Given the description of an element on the screen output the (x, y) to click on. 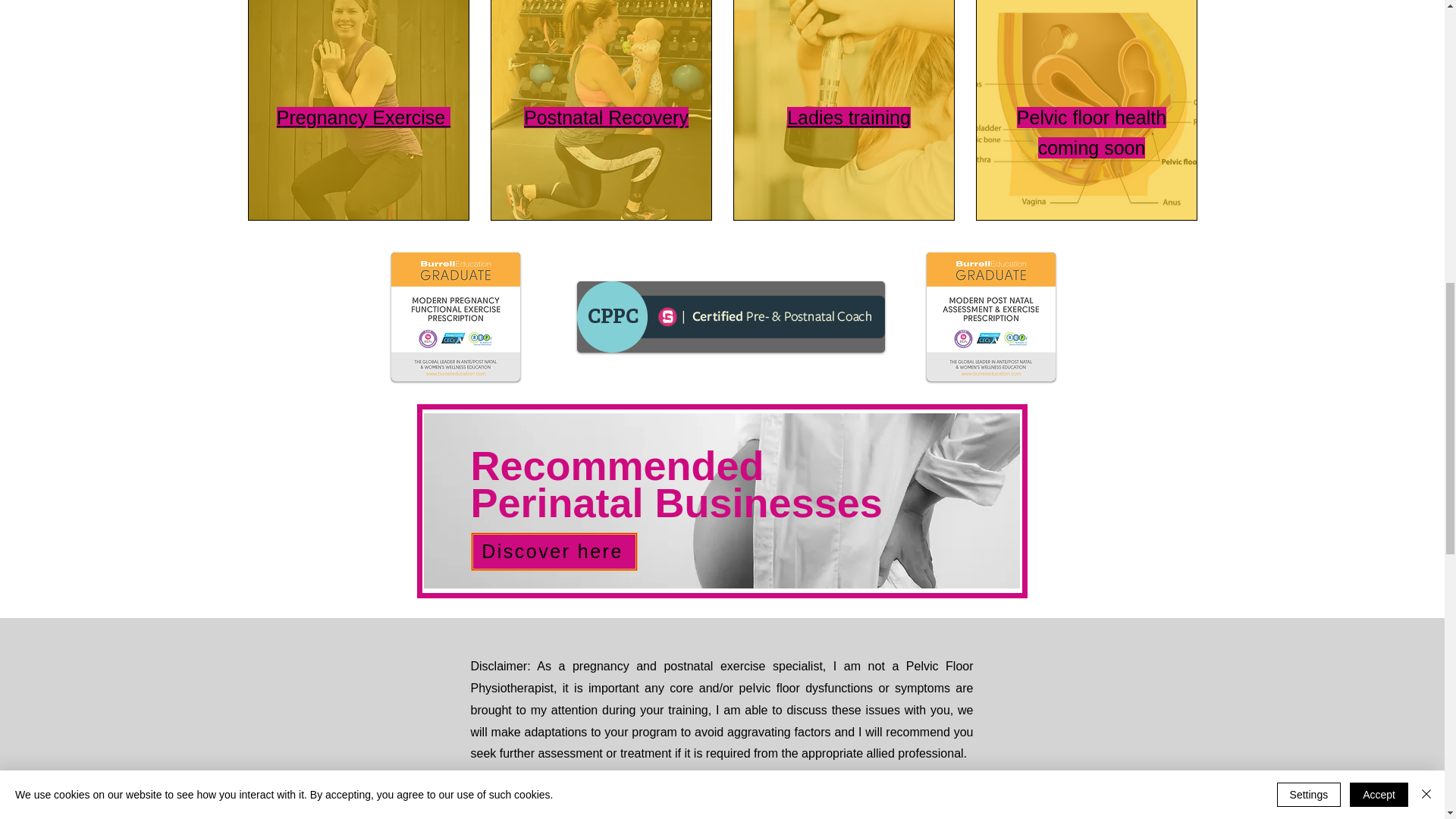
Discover here (553, 551)
Pregnancy Exercise  (362, 117)
Ladies training (849, 117)
Postnatal Recovery (606, 117)
